Given the description of an element on the screen output the (x, y) to click on. 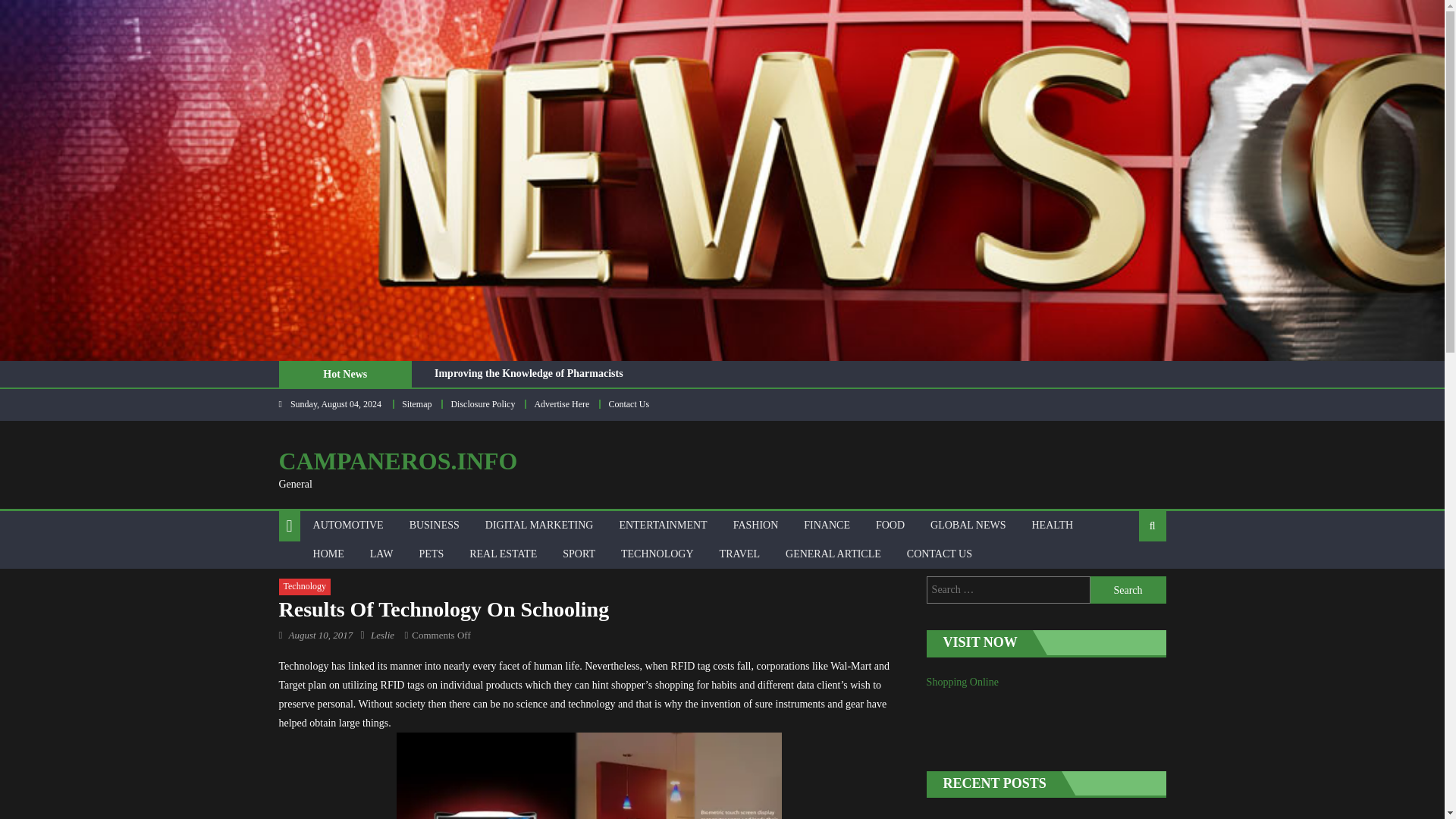
GENERAL ARTICLE (833, 553)
Search (1128, 574)
GLOBAL NEWS (967, 525)
PETS (431, 553)
Advertise Here (561, 403)
TECHNOLOGY (657, 553)
DIGITAL MARKETING (539, 525)
Search (1128, 589)
HEALTH (1052, 525)
SPORT (579, 553)
Technology (304, 586)
Improving the Knowledge of Pharmacists (528, 373)
Disclosure Policy (482, 403)
TRAVEL (739, 553)
HOME (328, 553)
